Given the description of an element on the screen output the (x, y) to click on. 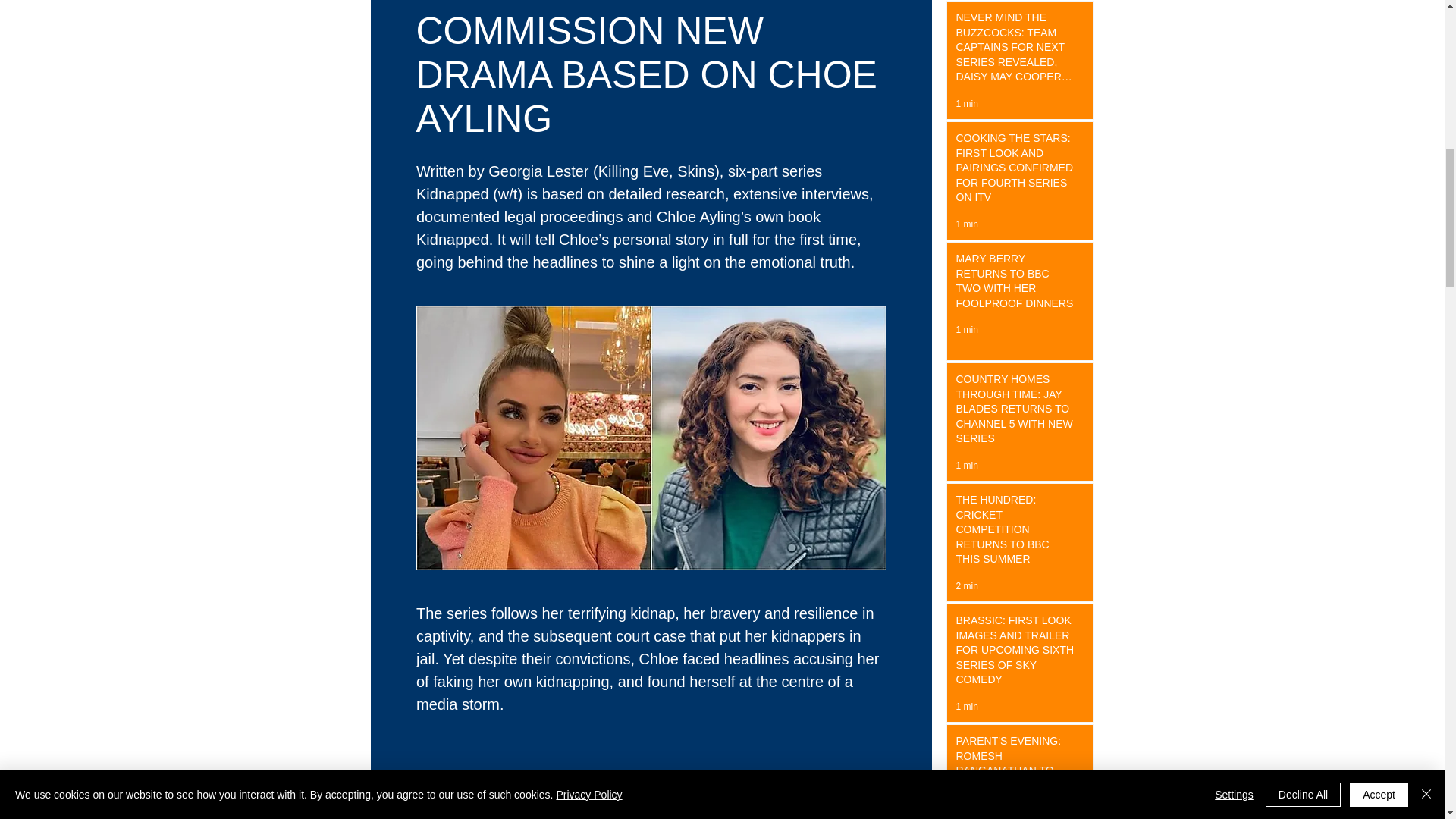
2 min (965, 585)
1 min (965, 103)
1 min (965, 224)
MARY BERRY RETURNS TO BBC TWO WITH HER FOOLPROOF DINNERS (1014, 283)
1 min (965, 329)
THE HUNDRED: CRICKET COMPETITION RETURNS TO BBC THIS SUMMER (1014, 533)
1 min (965, 465)
1 min (965, 706)
